Given the description of an element on the screen output the (x, y) to click on. 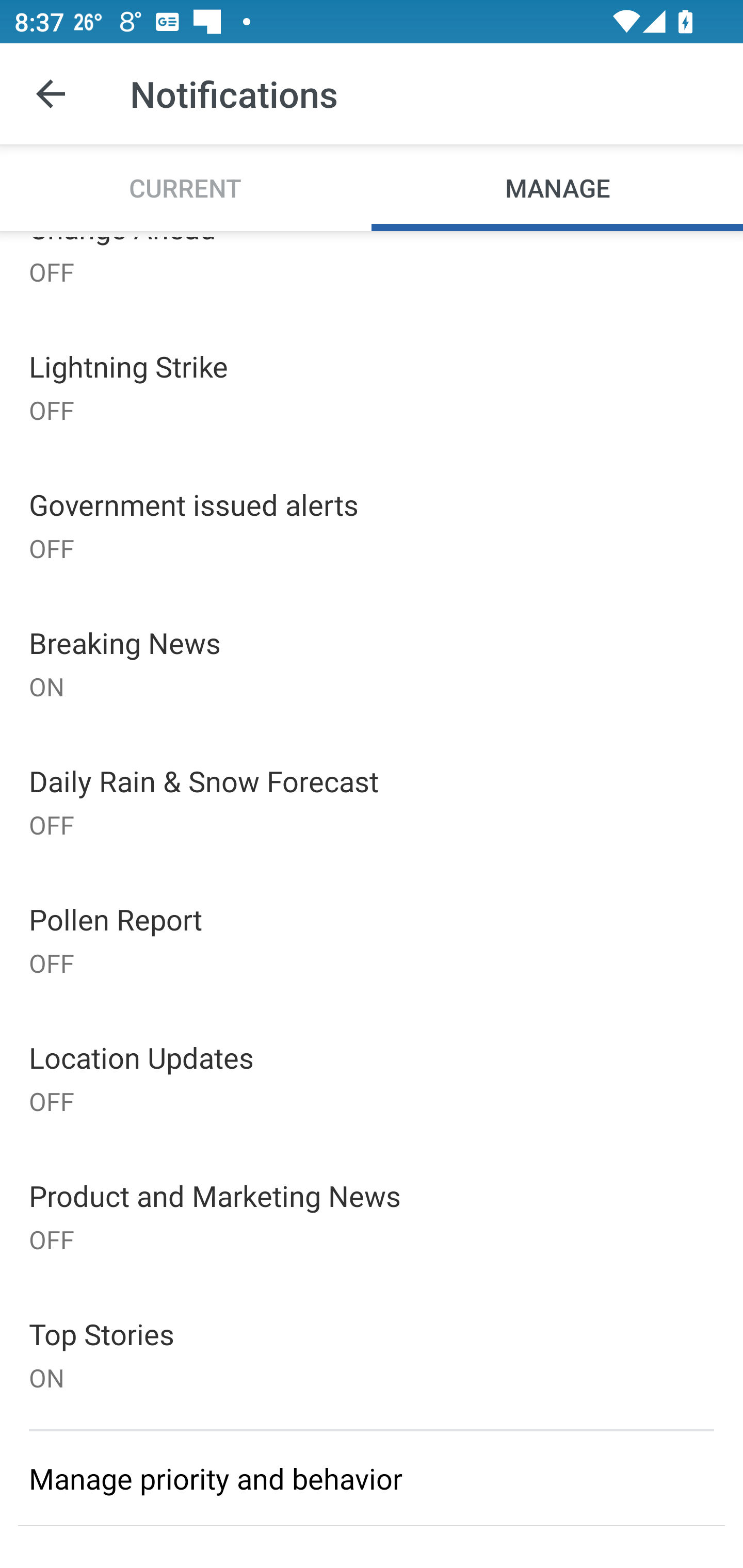
Navigate up (50, 93)
Current Tab CURRENT (185, 187)
Lightning Strike OFF (371, 387)
Government issued alerts OFF (371, 525)
Breaking News ON (371, 663)
Daily Rain & Snow Forecast OFF (371, 801)
Pollen Report OFF (371, 939)
Location Updates OFF (371, 1077)
Product and Marketing News OFF (371, 1216)
Top Stories ON (371, 1354)
Manage priority and behavior (371, 1478)
